Given the description of an element on the screen output the (x, y) to click on. 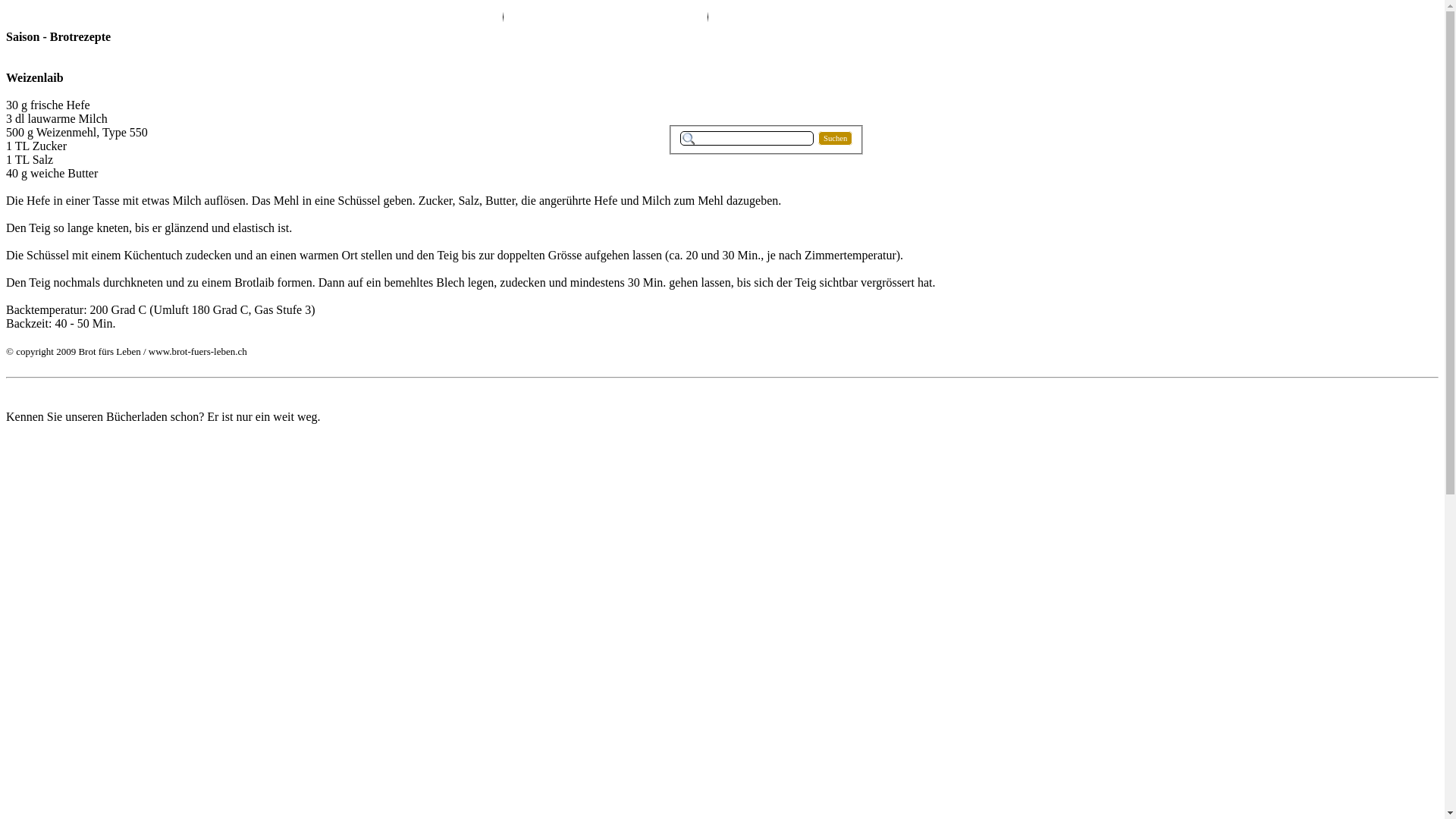
Mehr Rezepte Element type: text (654, 16)
Buch Element type: text (153, 16)
Saisonrezepte Element type: text (555, 16)
Ondit Element type: text (350, 16)
Tipps Element type: text (449, 16)
Homepage Element type: text (55, 16)
Suchen Element type: text (835, 138)
Rezepte Element type: text (252, 16)
